Given the description of an element on the screen output the (x, y) to click on. 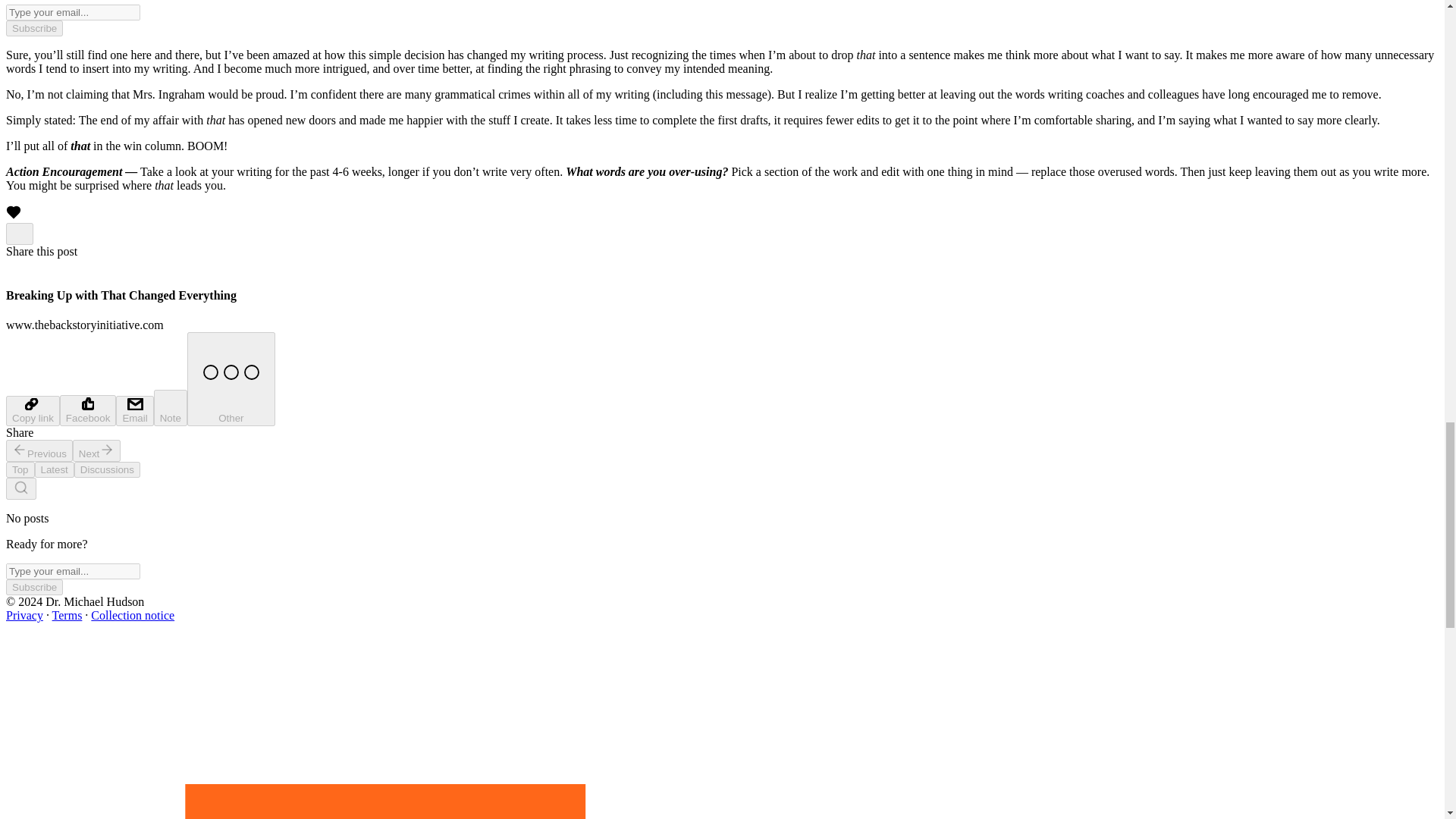
Top (19, 469)
Other (231, 378)
Privacy (24, 615)
Facebook (87, 409)
Email (134, 410)
Previous (38, 450)
Discussions (106, 469)
Subscribe (33, 28)
Copy link (32, 410)
Terms (67, 615)
